Given the description of an element on the screen output the (x, y) to click on. 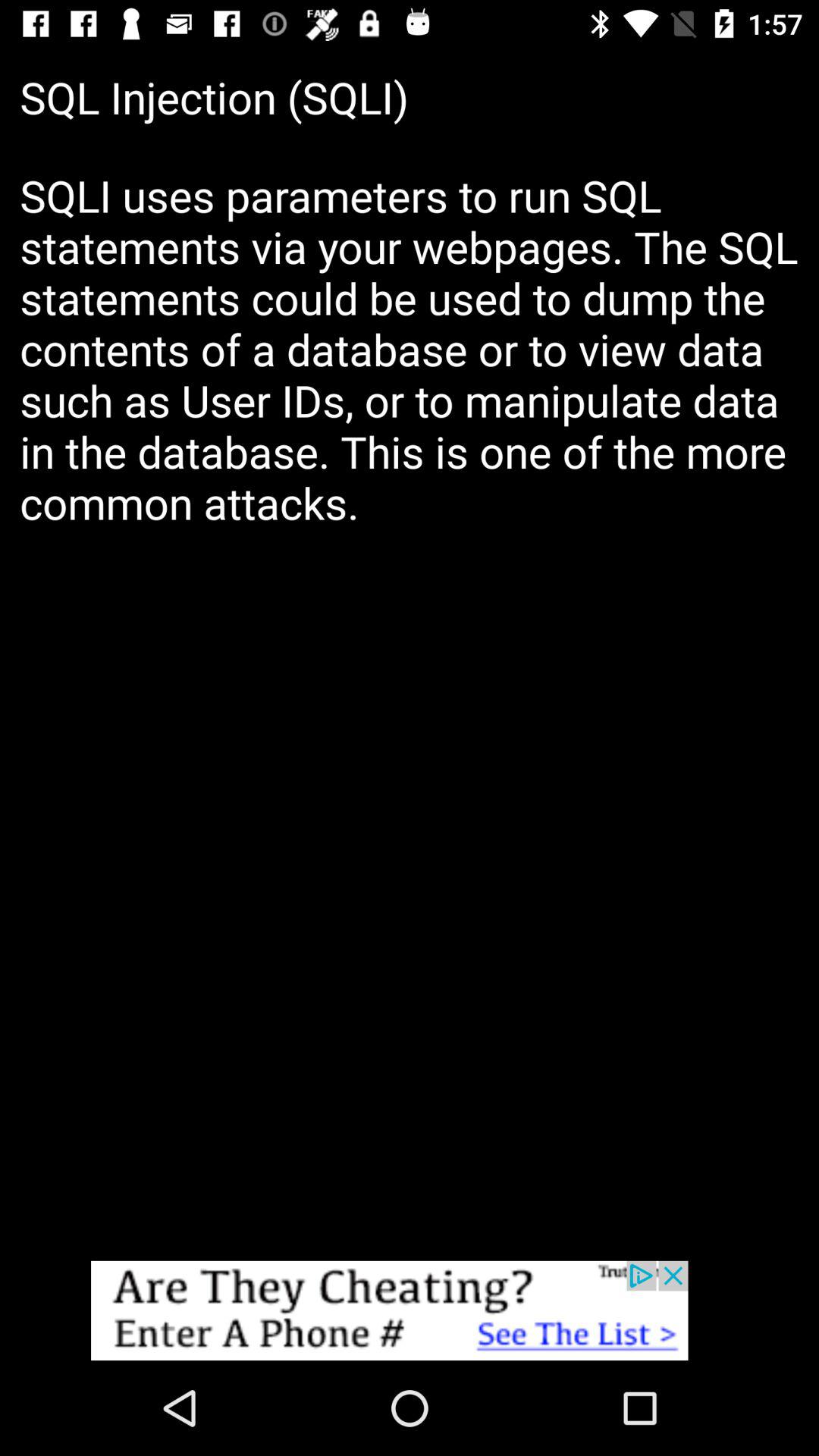
open advertisement (409, 1310)
